Given the description of an element on the screen output the (x, y) to click on. 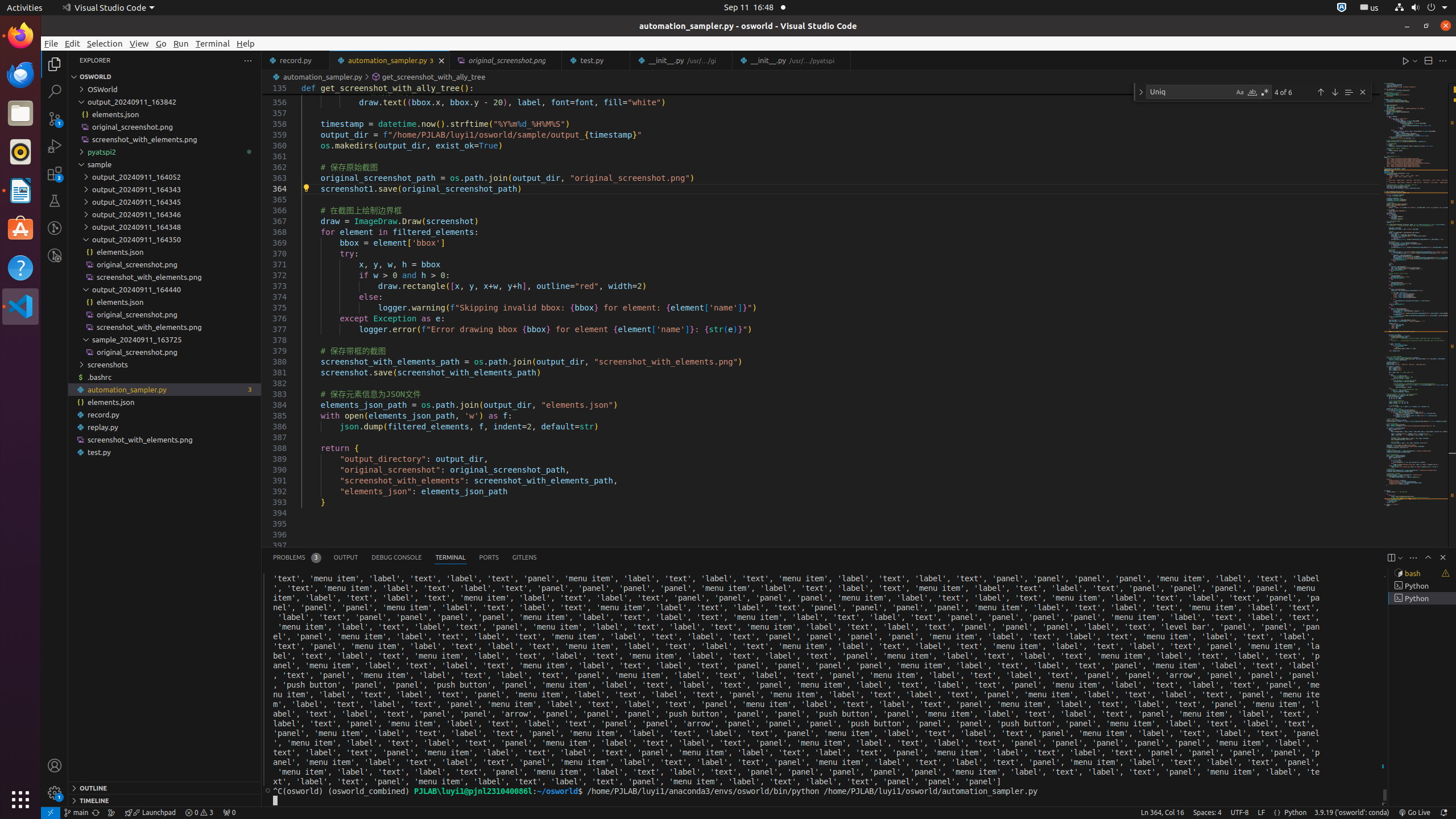
File Element type: push-button (50, 43)
Active View Switcher Element type: page-tab-list (404, 557)
Split Editor Right (Ctrl+\) [Alt] Split Editor Down Element type: push-button (1427, 60)
Debug Console (Ctrl+Shift+Y) Element type: page-tab (396, 557)
Ln 364, Col 16 Element type: push-button (1162, 812)
